Given the description of an element on the screen output the (x, y) to click on. 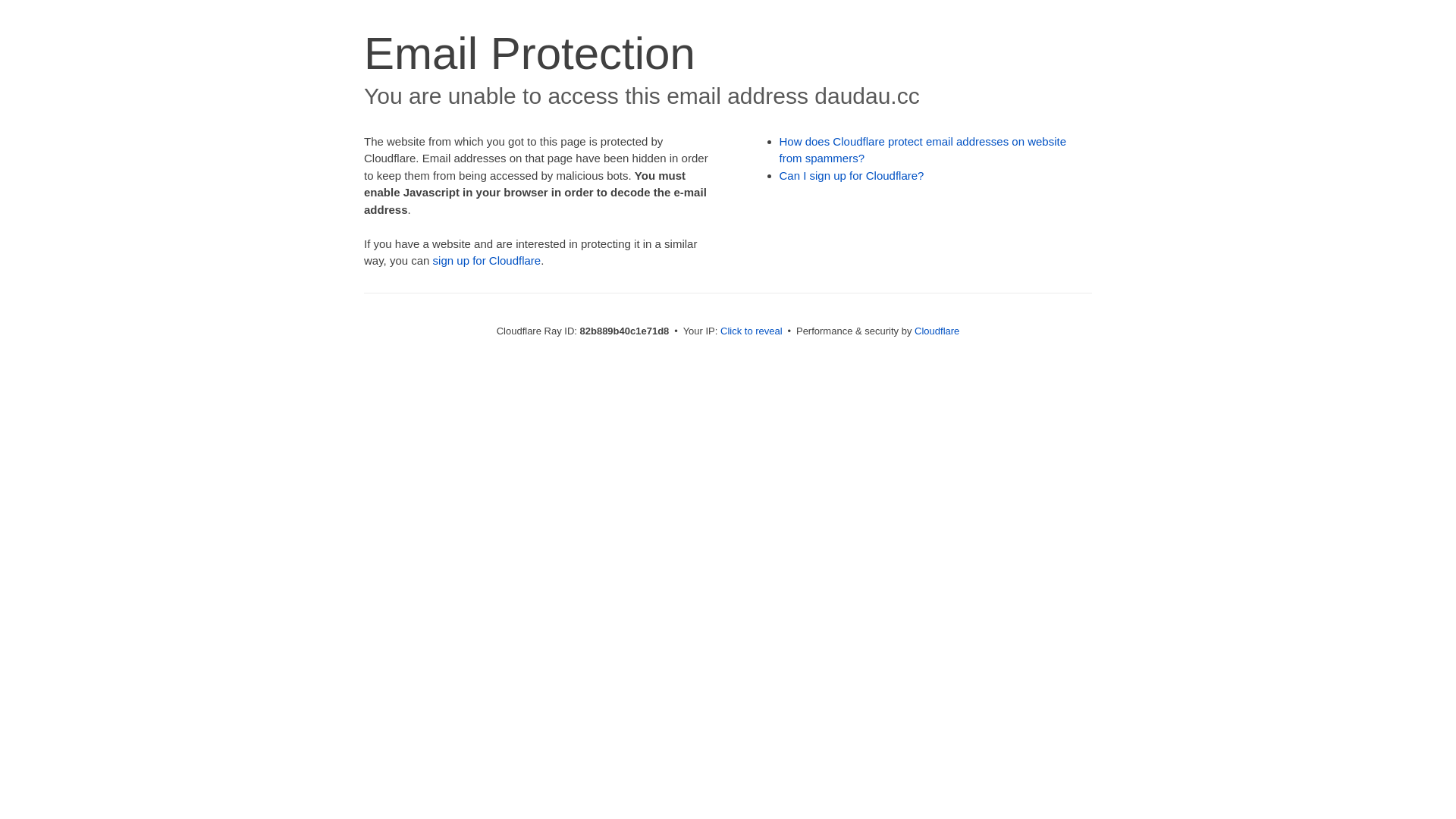
Click to reveal Element type: text (751, 330)
Cloudflare Element type: text (936, 330)
sign up for Cloudflare Element type: text (487, 260)
Can I sign up for Cloudflare? Element type: text (851, 175)
